Given the description of an element on the screen output the (x, y) to click on. 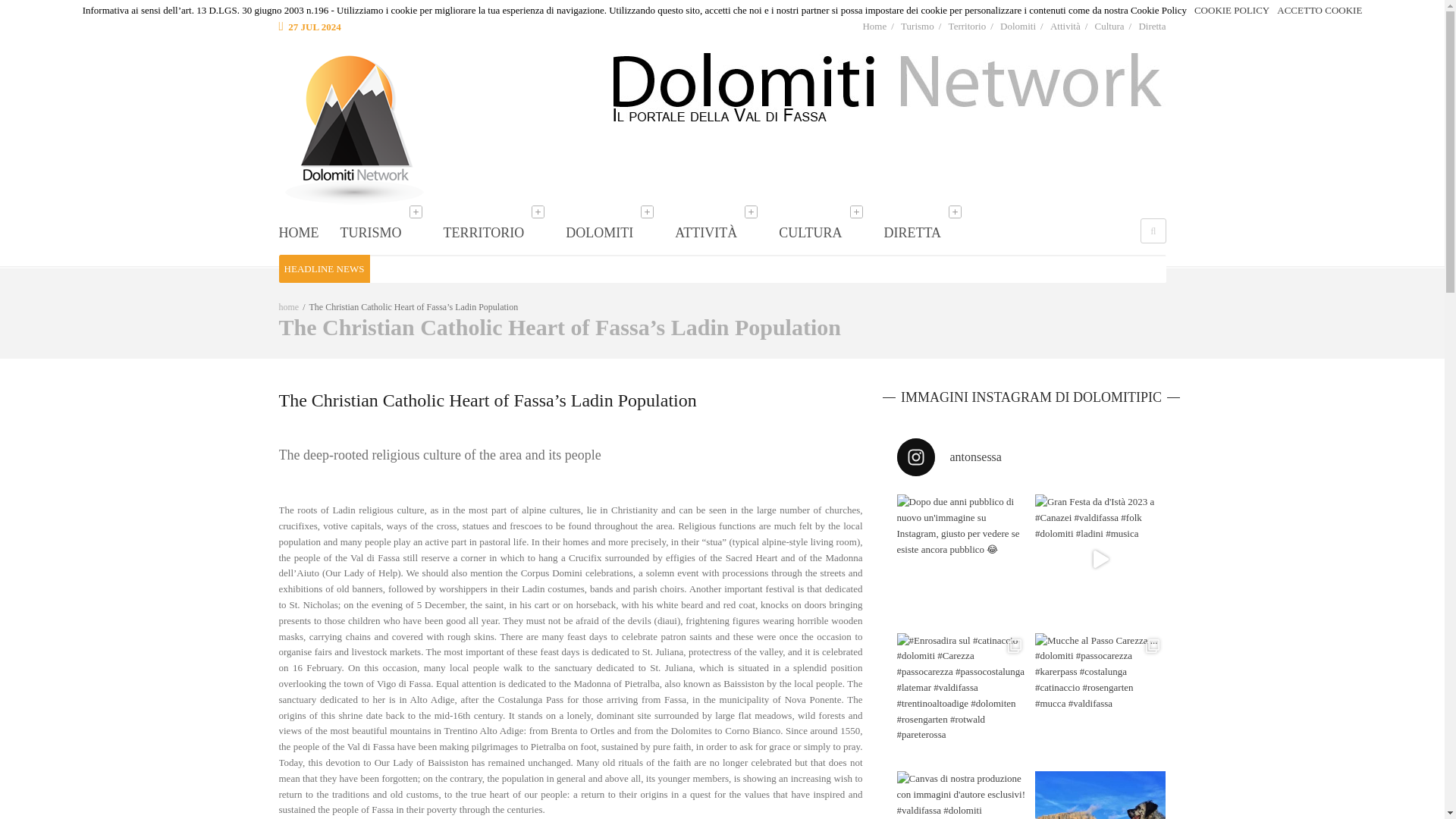
Dolomiti (1017, 25)
Diretta (1152, 25)
TURISMO (387, 233)
DOLOMITI (616, 233)
Turismo (917, 25)
Territorio (968, 25)
HOME (306, 233)
TERRITORIO (501, 233)
Turismo (387, 233)
Cultura (1109, 25)
Territorio (501, 233)
Home (306, 233)
Home (873, 25)
